Given the description of an element on the screen output the (x, y) to click on. 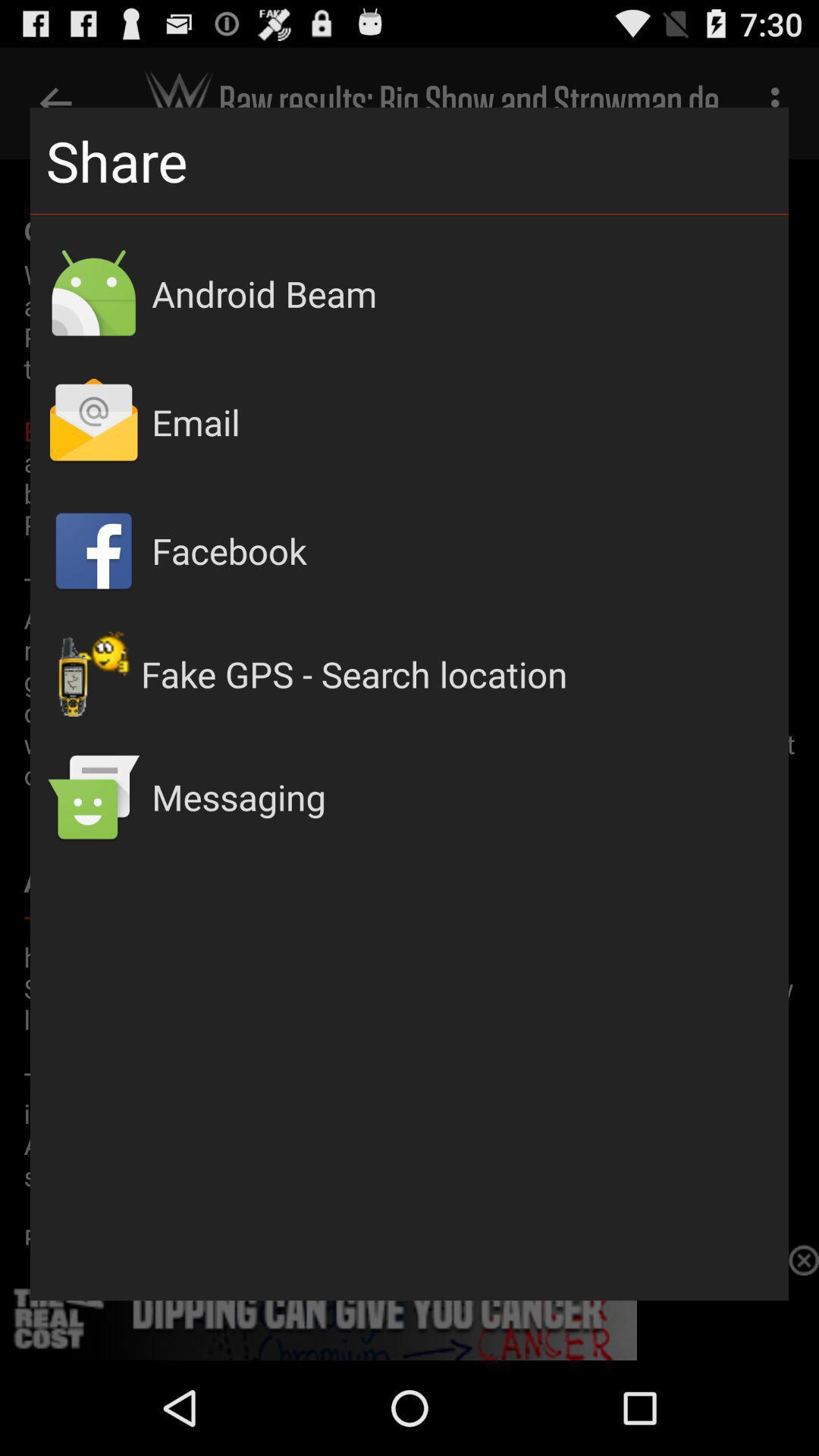
jump to messaging item (461, 796)
